Given the description of an element on the screen output the (x, y) to click on. 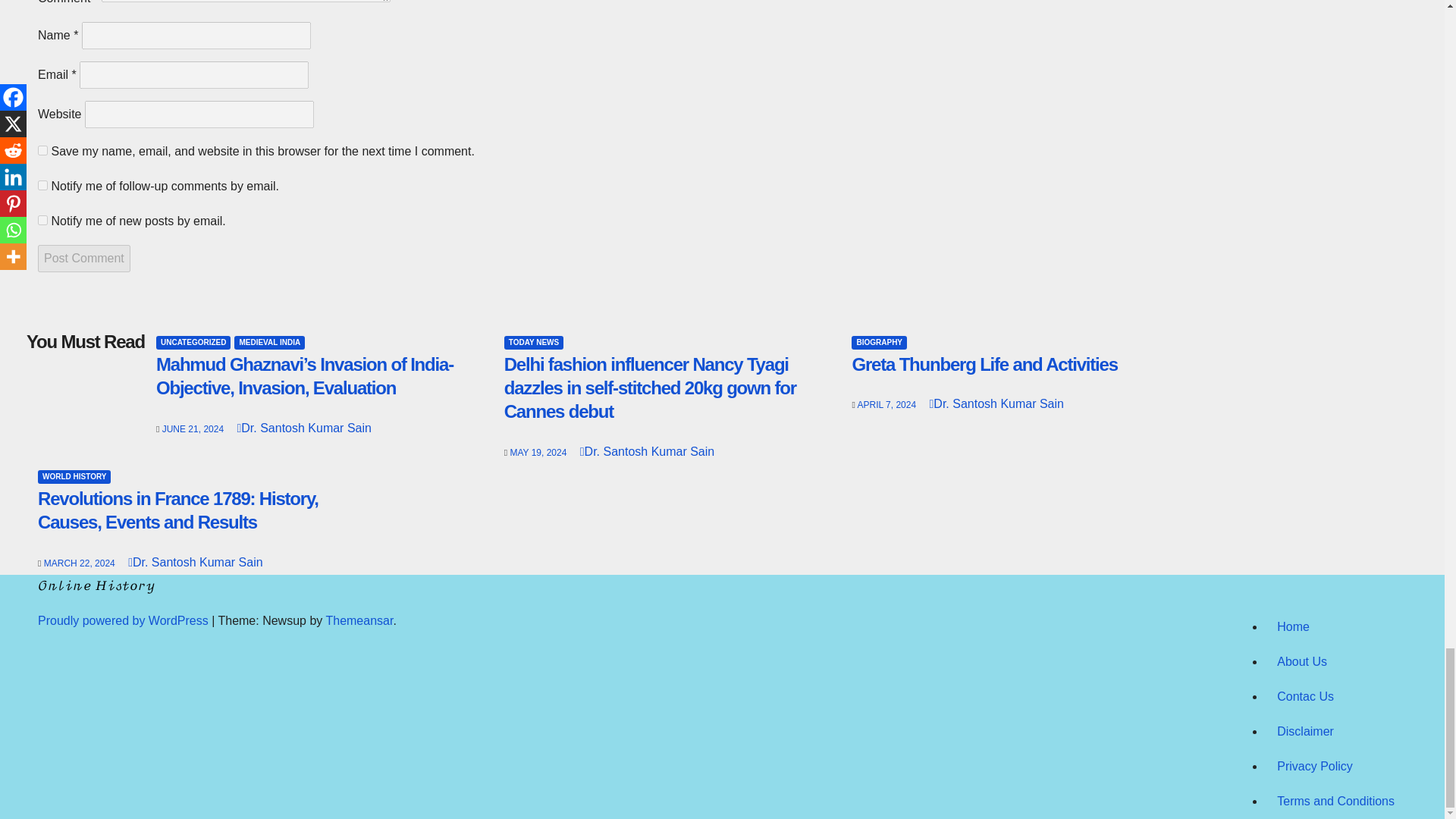
yes (42, 150)
Post Comment (84, 257)
subscribe (42, 185)
subscribe (42, 220)
